Given the description of an element on the screen output the (x, y) to click on. 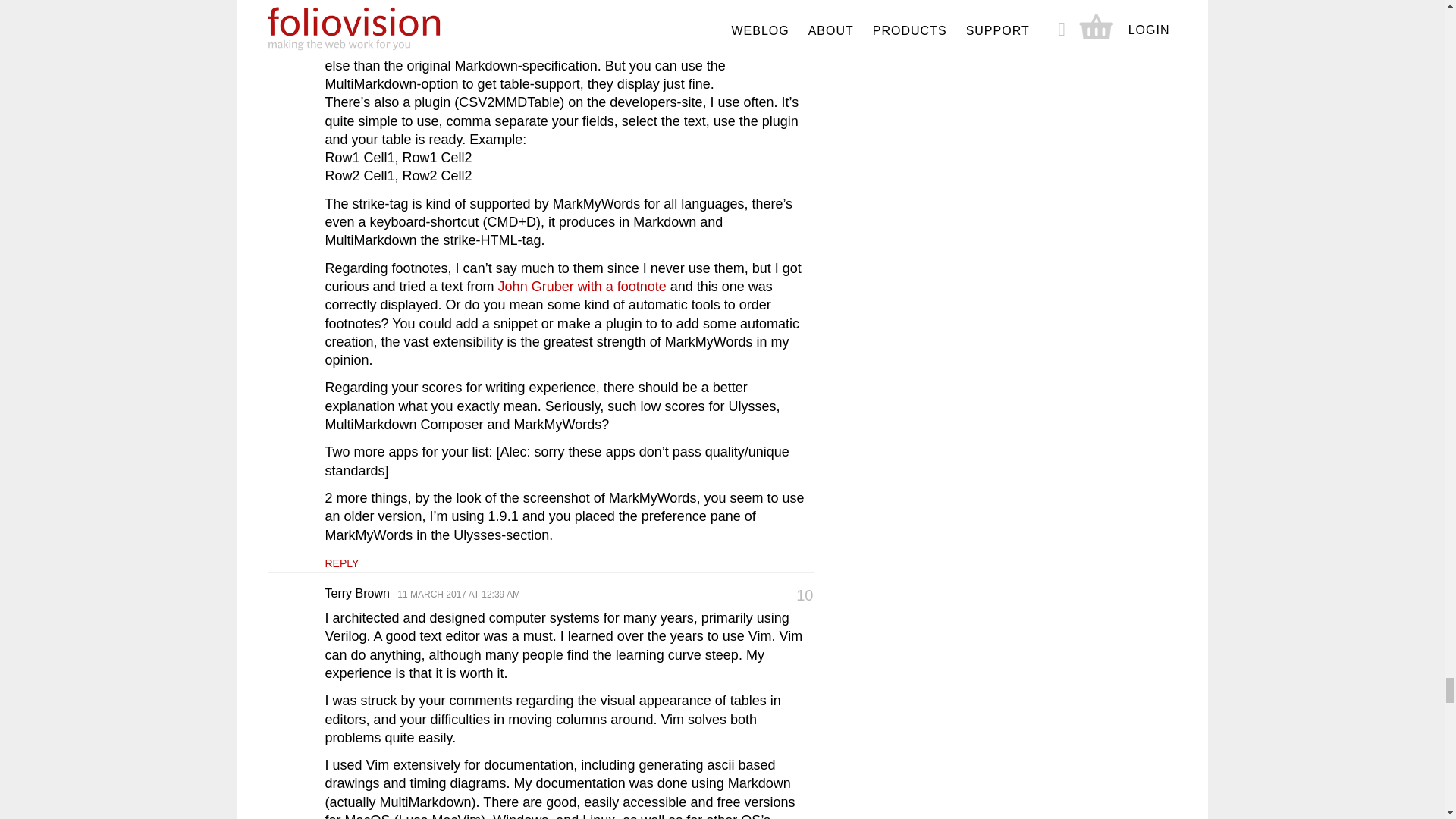
Gruber Text (581, 286)
